Given the description of an element on the screen output the (x, y) to click on. 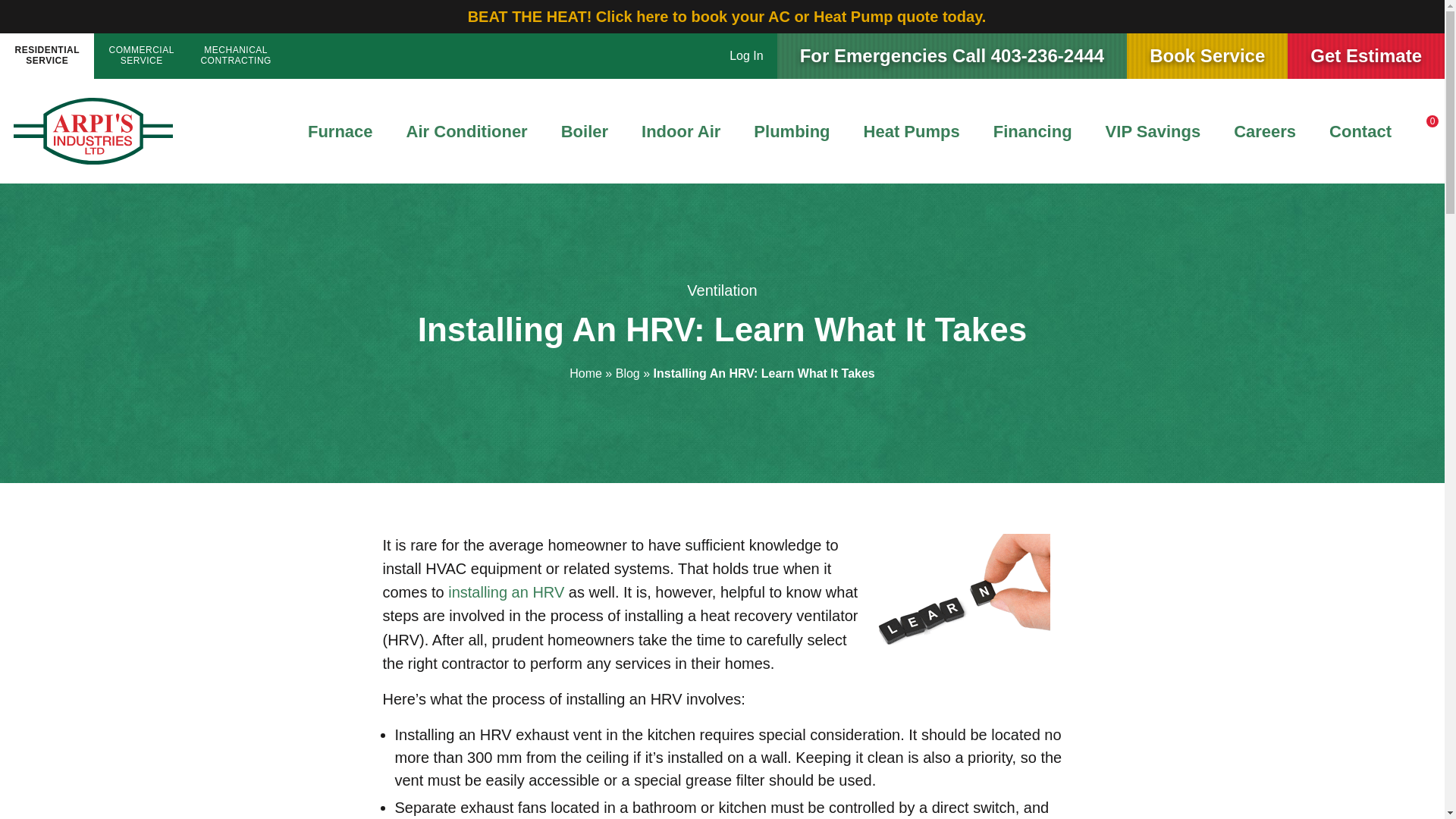
Careers (47, 55)
Log In (1265, 131)
Boiler (746, 55)
Heat Pumps (584, 131)
Air Conditioner (911, 131)
Contact (235, 55)
Plumbing (467, 131)
Financing (1360, 131)
VIP Savings (790, 131)
For Emergencies Call 403-236-2444 (1032, 131)
Furnace (1153, 131)
Book Service (951, 55)
